Given the description of an element on the screen output the (x, y) to click on. 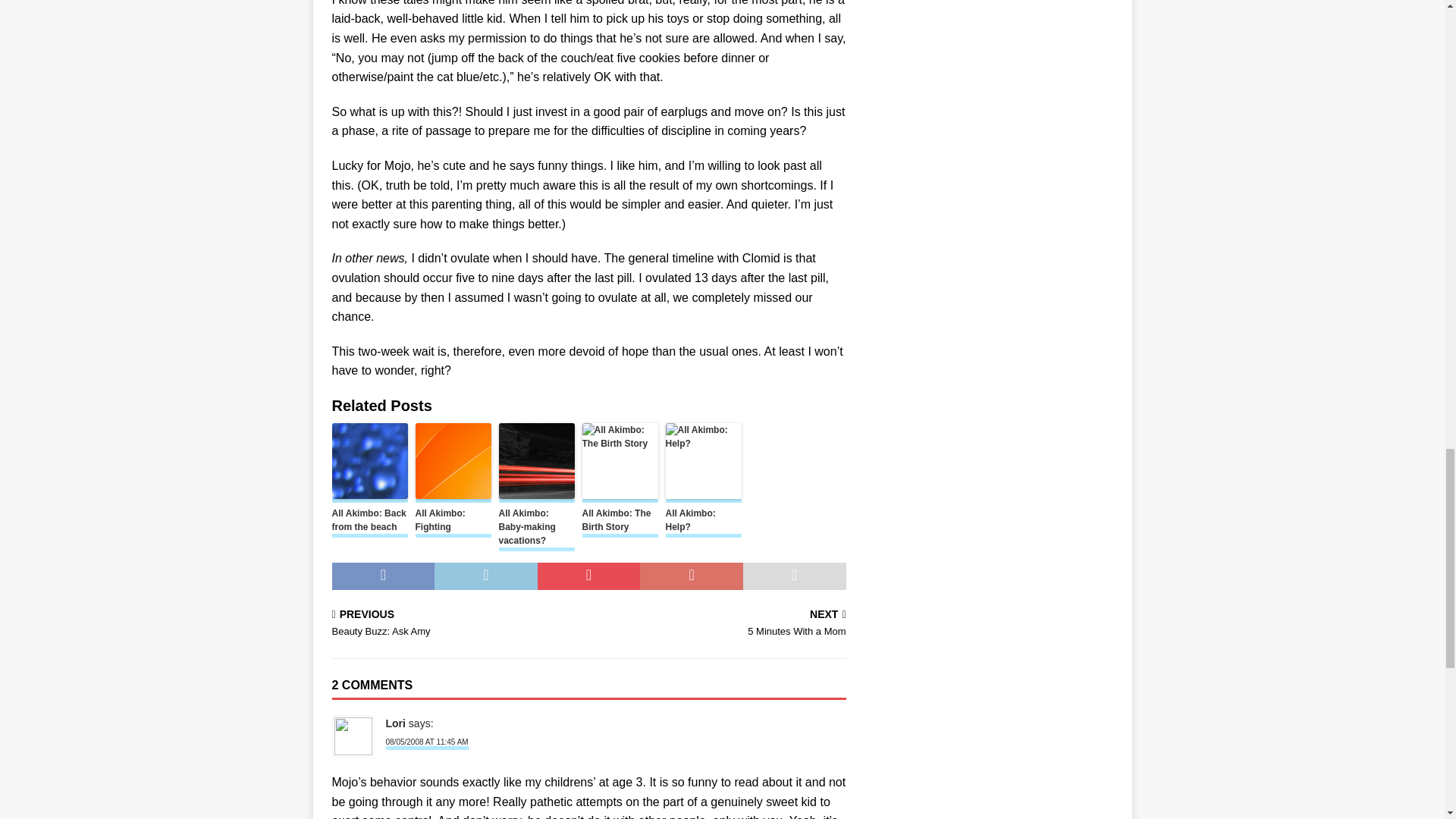
All Akimbo: The Birth Story (620, 521)
All Akimbo: Baby-making vacations? (537, 528)
All Akimbo: Back from the beach (369, 521)
All Akimbo: Help? (703, 521)
All Akimbo: Fighting (453, 521)
